Given the description of an element on the screen output the (x, y) to click on. 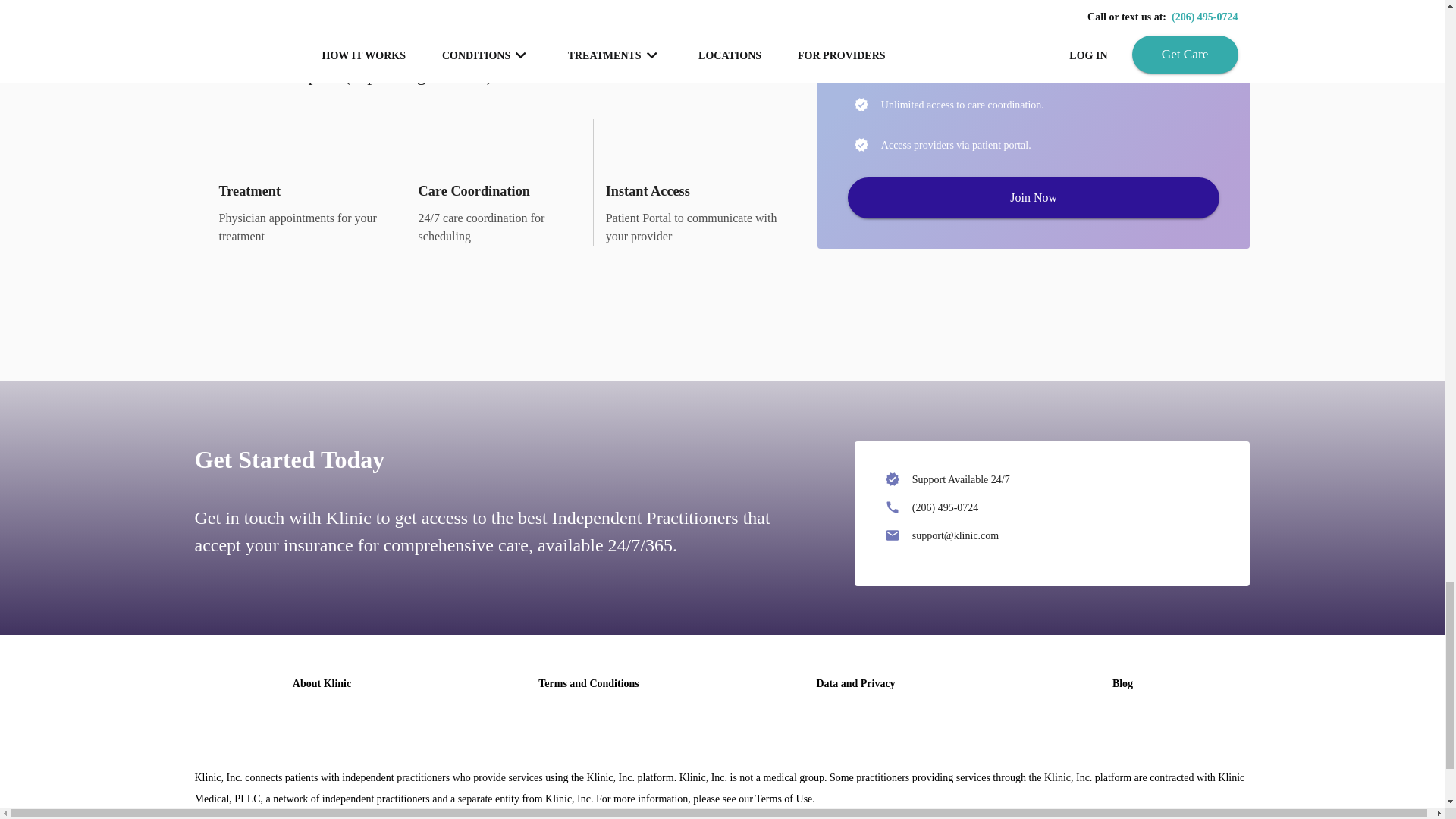
Data and Privacy (855, 683)
Blog (1122, 683)
Terms and Conditions (588, 683)
About Klinic (321, 683)
Join Now (1033, 197)
